Given the description of an element on the screen output the (x, y) to click on. 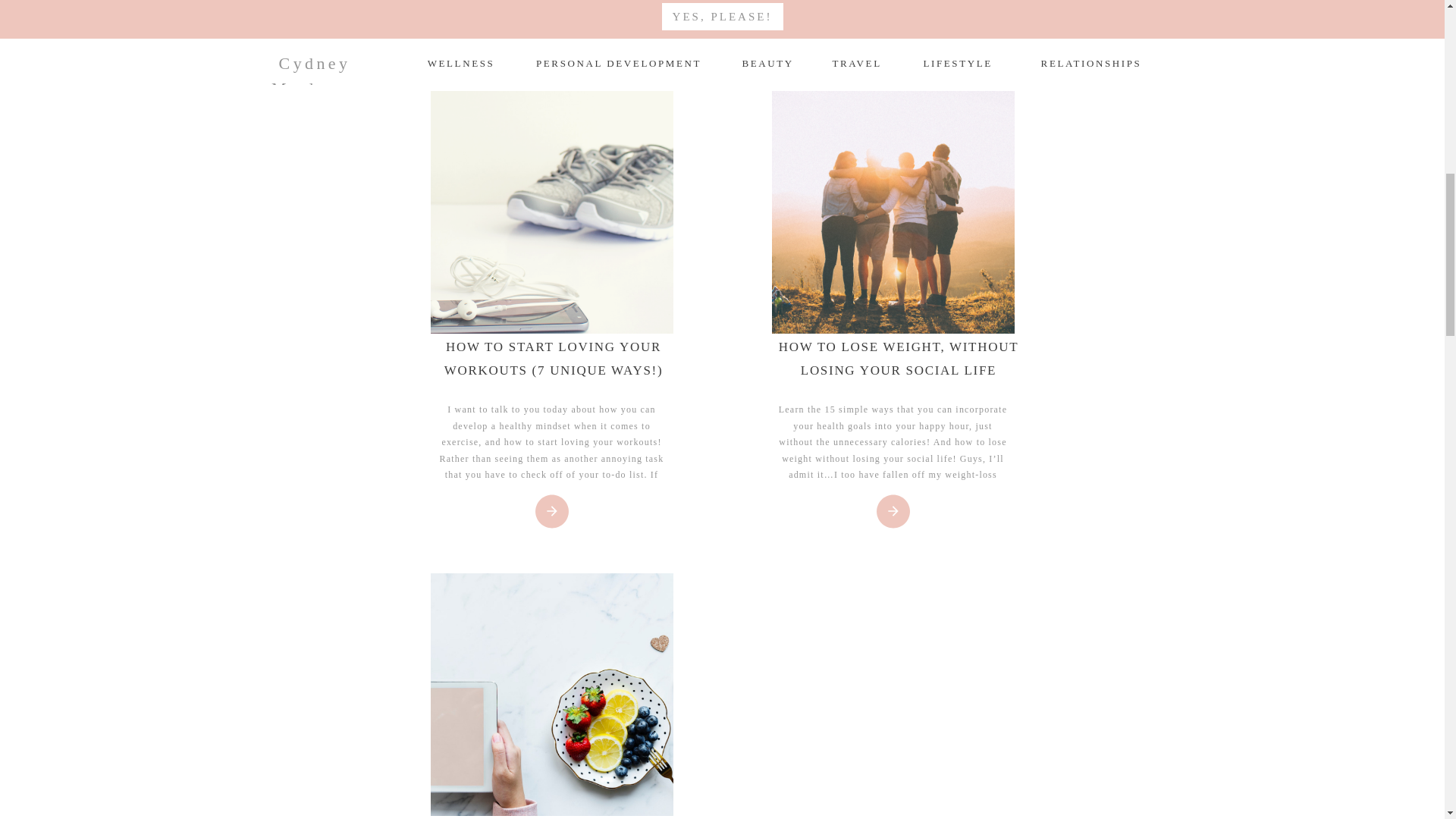
WELLNESS (461, 61)
PERSONAL DEVELOPMENT (618, 61)
LIFESTYLE (957, 61)
YES, PLEASE! (722, 16)
7 Ultimate Healthy Snack Alternatives to Boost Fat Loss (551, 694)
How to Lose Weight, WITHOUT Losing Your Social Life (893, 510)
TRAVEL  (856, 61)
BEAUTY  (766, 61)
Cydney Marlene. (314, 61)
RELATIONSHIPS (1091, 61)
How to Lose Weight, WITHOUT Losing Your Social Life (892, 211)
